Given the description of an element on the screen output the (x, y) to click on. 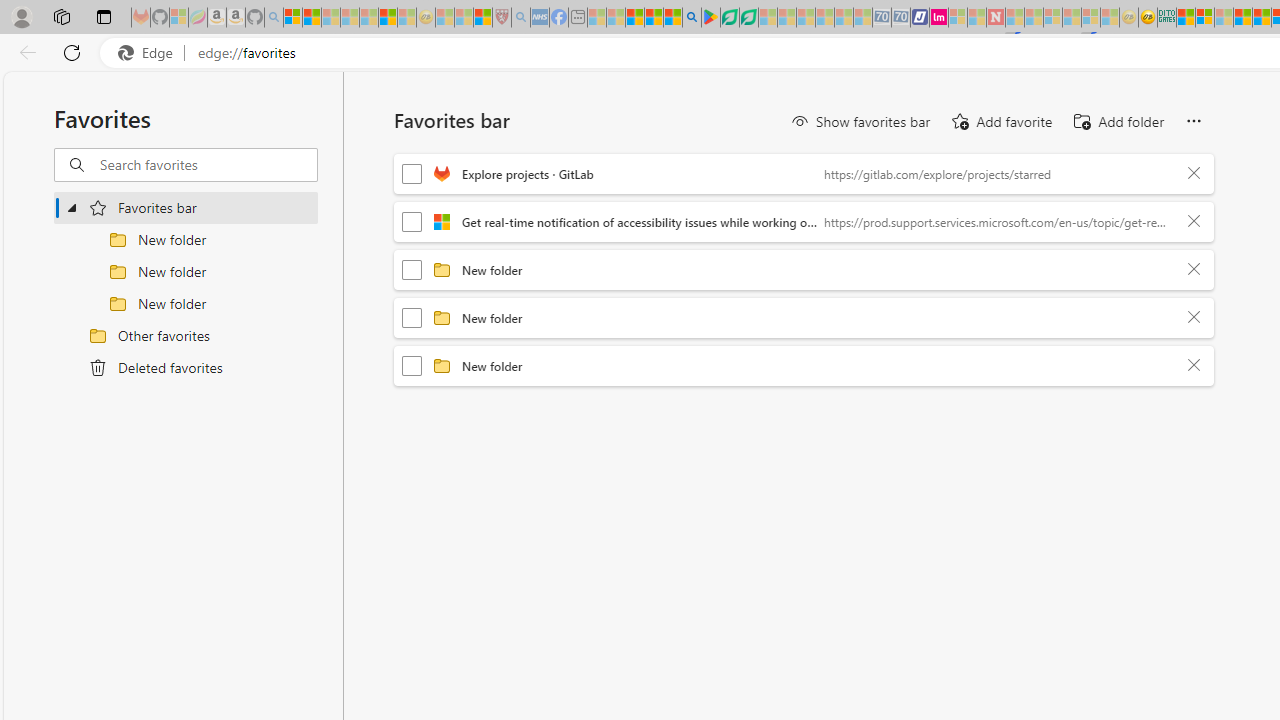
Jobs - lastminute.com Investor Portal (939, 17)
